Given the description of an element on the screen output the (x, y) to click on. 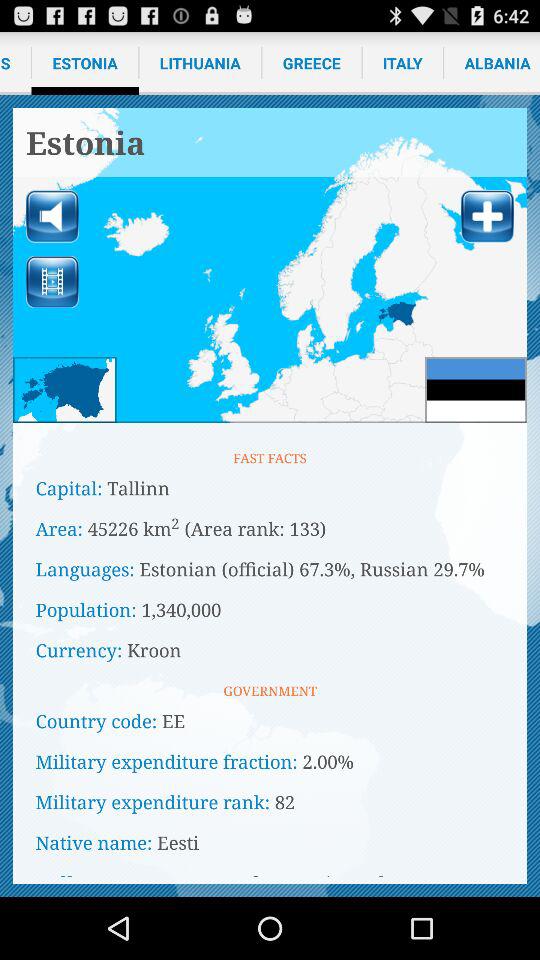
mini-map (64, 389)
